Given the description of an element on the screen output the (x, y) to click on. 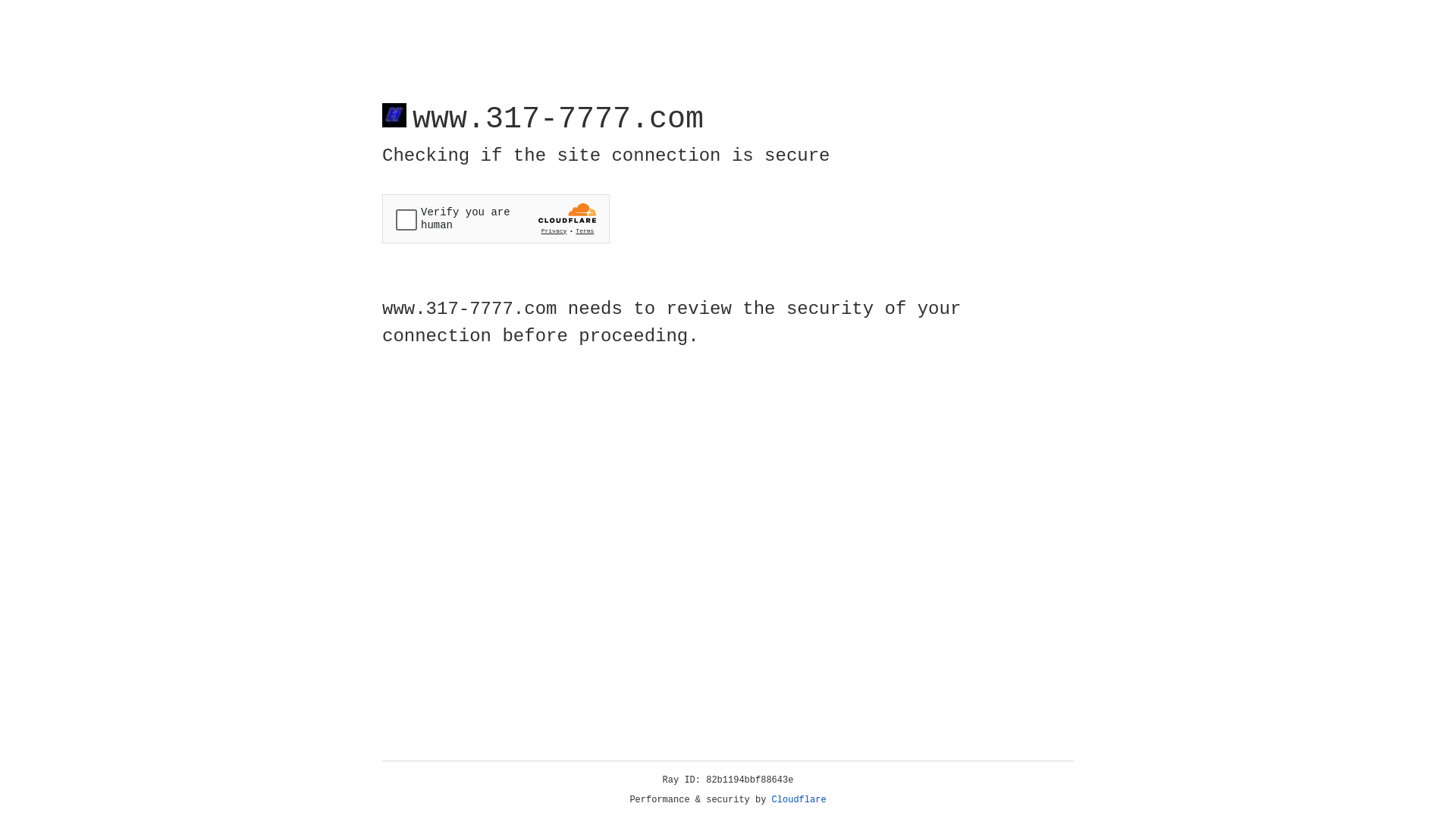
Cloudflare Element type: text (798, 799)
Widget containing a Cloudflare security challenge Element type: hover (495, 218)
